Given the description of an element on the screen output the (x, y) to click on. 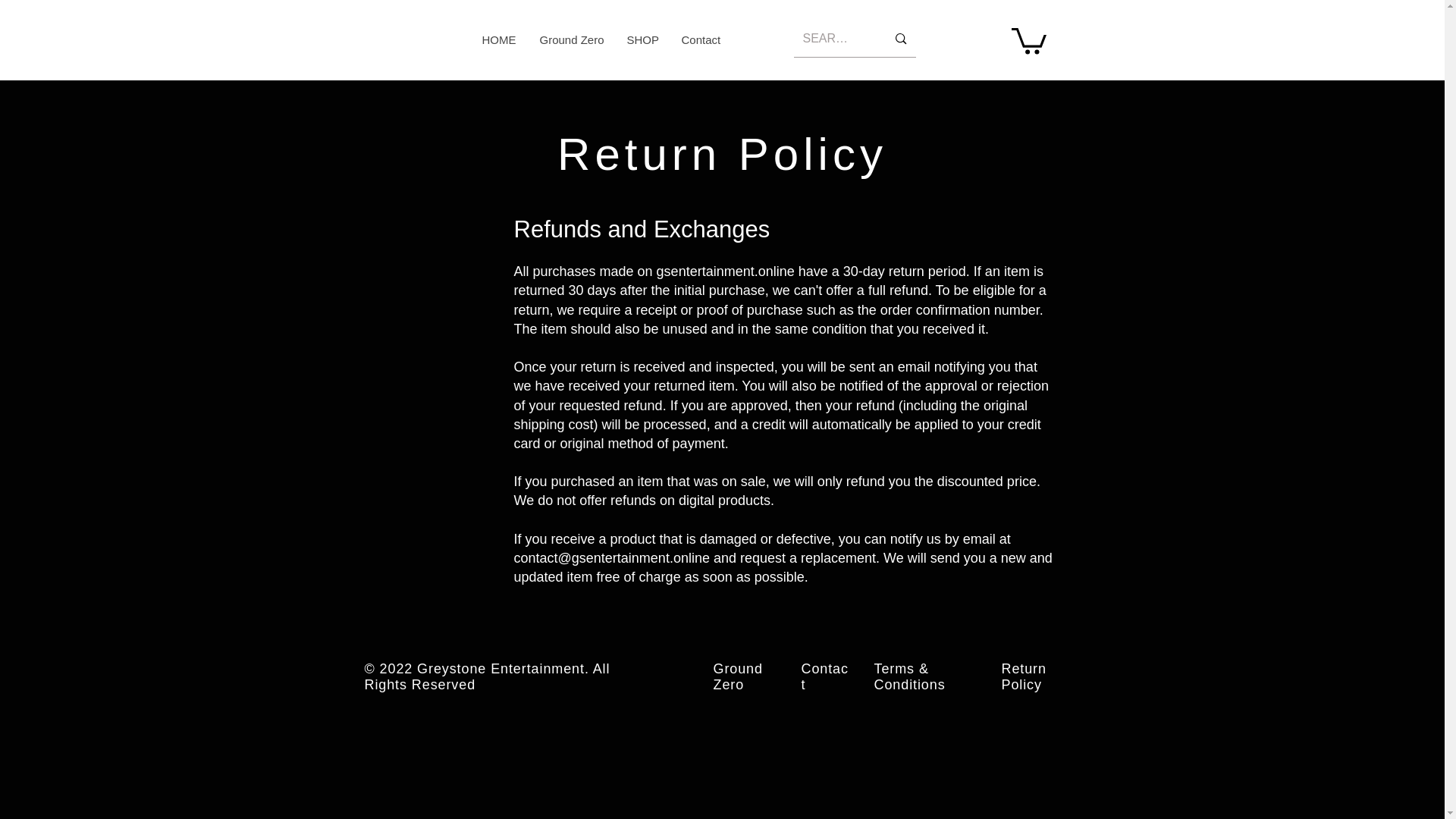
Return Policy (1023, 676)
Contact (823, 676)
Ground Zero (570, 39)
HOME (498, 39)
Ground Zero (737, 676)
Contact (699, 39)
SHOP (641, 39)
